Given the description of an element on the screen output the (x, y) to click on. 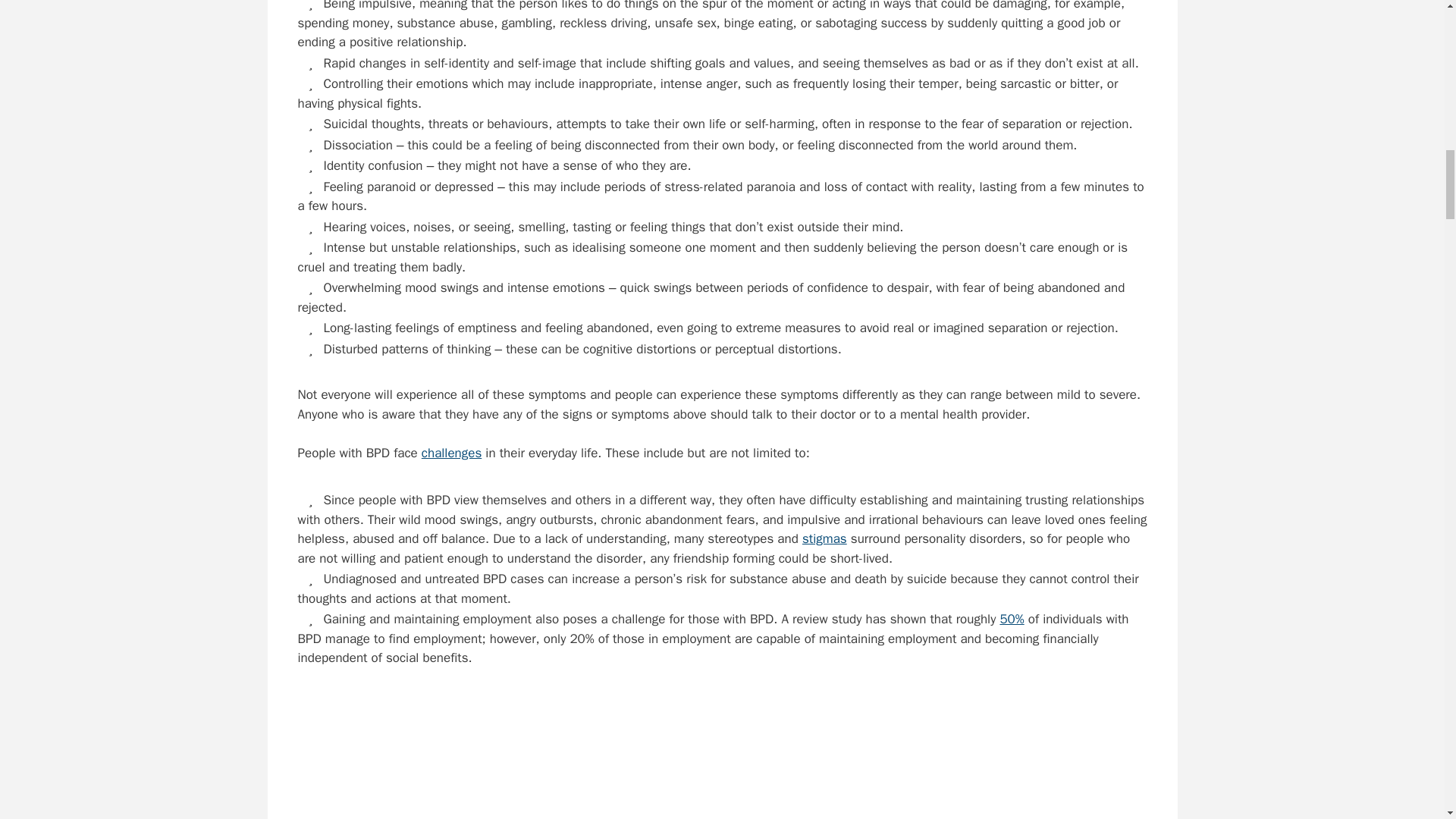
challenges (451, 453)
stigmas (824, 538)
The genetic component of BPD (722, 756)
